Given the description of an element on the screen output the (x, y) to click on. 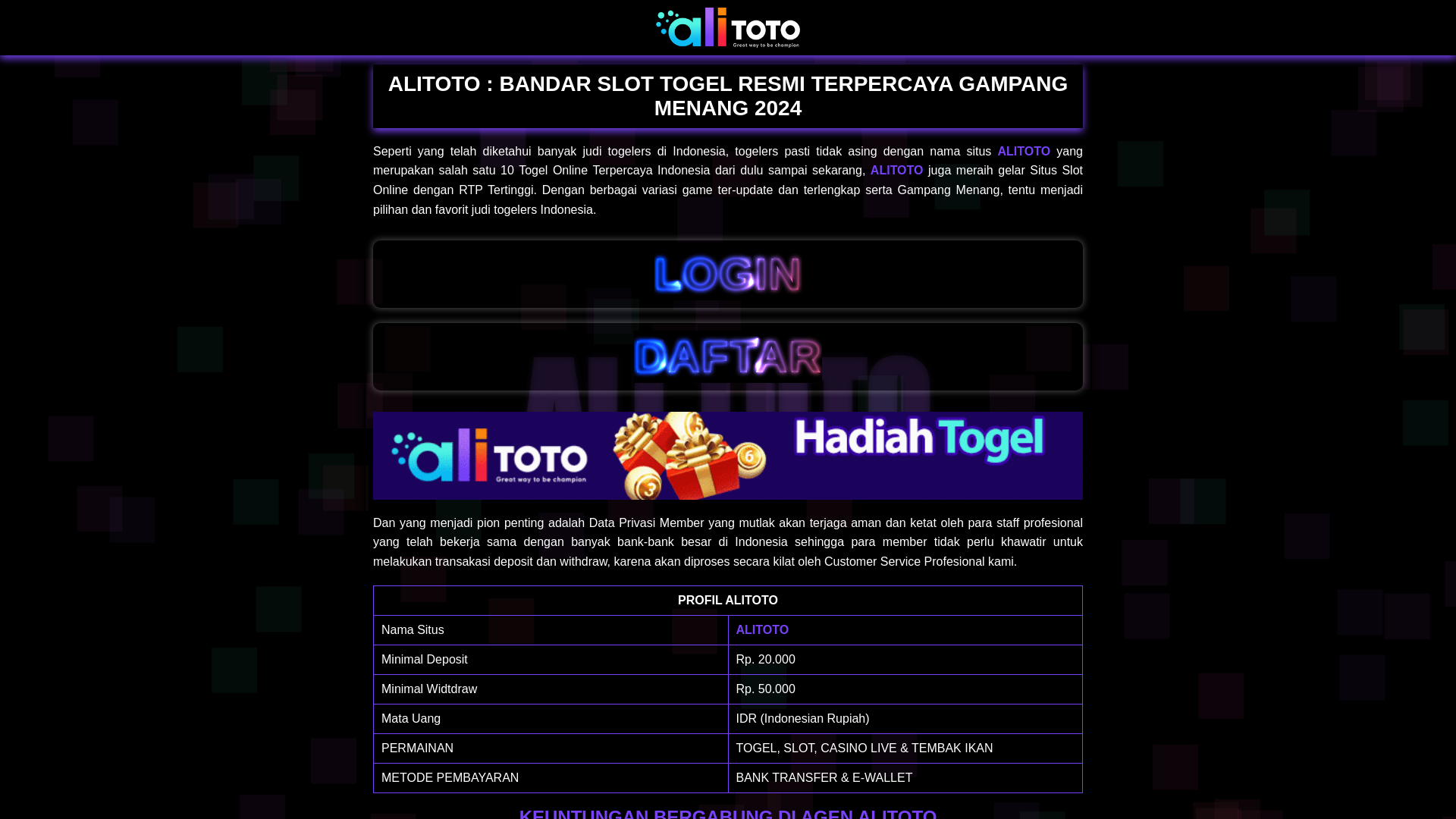
DAFTAR (727, 356)
ALITOTO (762, 629)
LOGIN (727, 273)
